Given the description of an element on the screen output the (x, y) to click on. 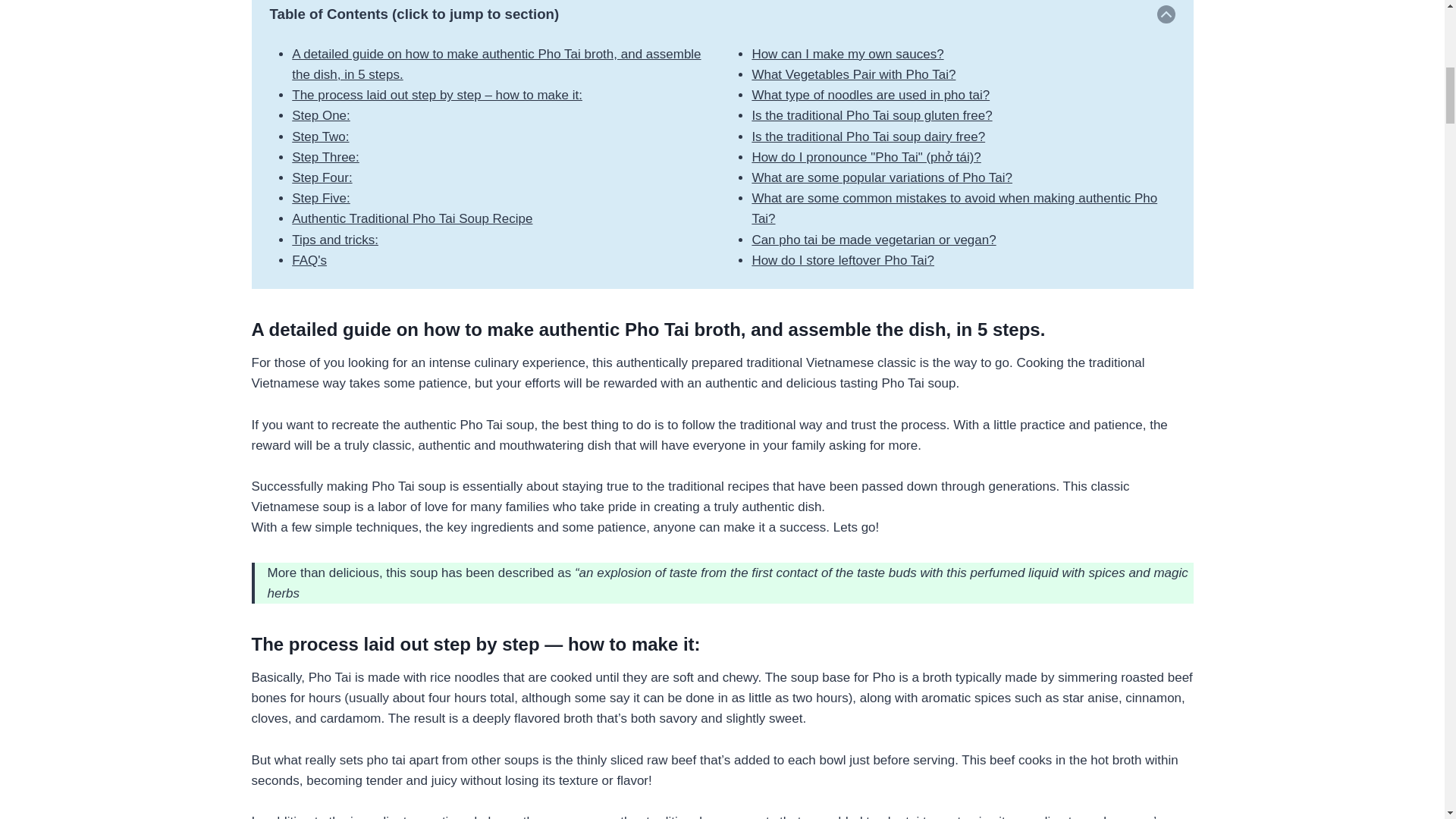
Authentic Traditional Pho Tai Soup Recipe (412, 218)
Step Four: (322, 177)
Step Five: (321, 197)
Step Two: (320, 136)
Step Three: (325, 156)
Step One: (321, 115)
